Given the description of an element on the screen output the (x, y) to click on. 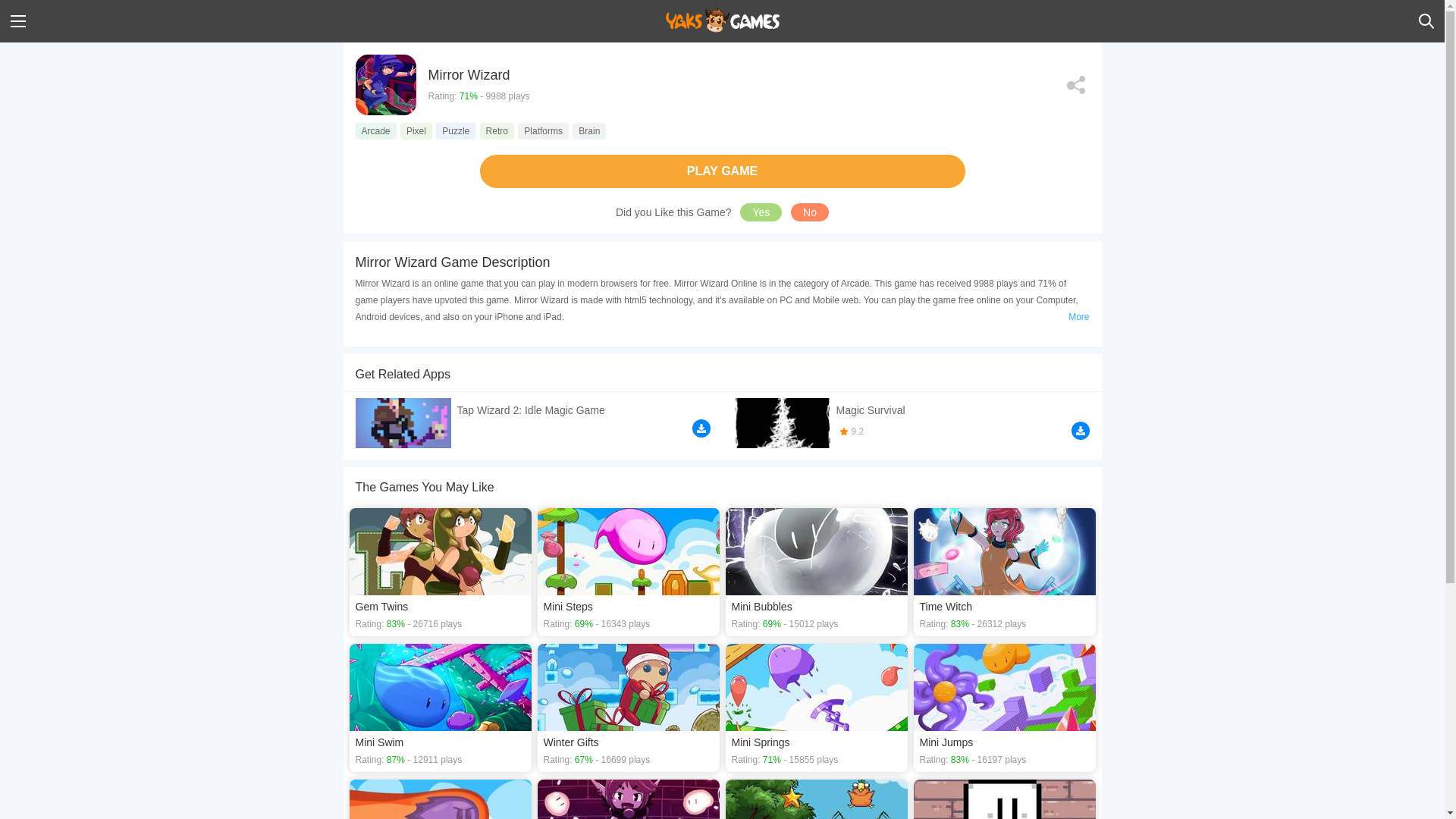
Arcade (375, 130)
Platforms online games (543, 130)
Retro online games (496, 130)
Mini Bubbles (816, 571)
Time Witch (1003, 571)
Magic Survival (911, 422)
Retro (496, 130)
Yes (760, 212)
Tap Wizard 2: Idle Magic Game (532, 420)
No (809, 212)
Mini Dash (440, 799)
Puzzle online games (455, 130)
Pixel online games (416, 130)
Arcade online games (375, 130)
Brain online games (588, 130)
